Given the description of an element on the screen output the (x, y) to click on. 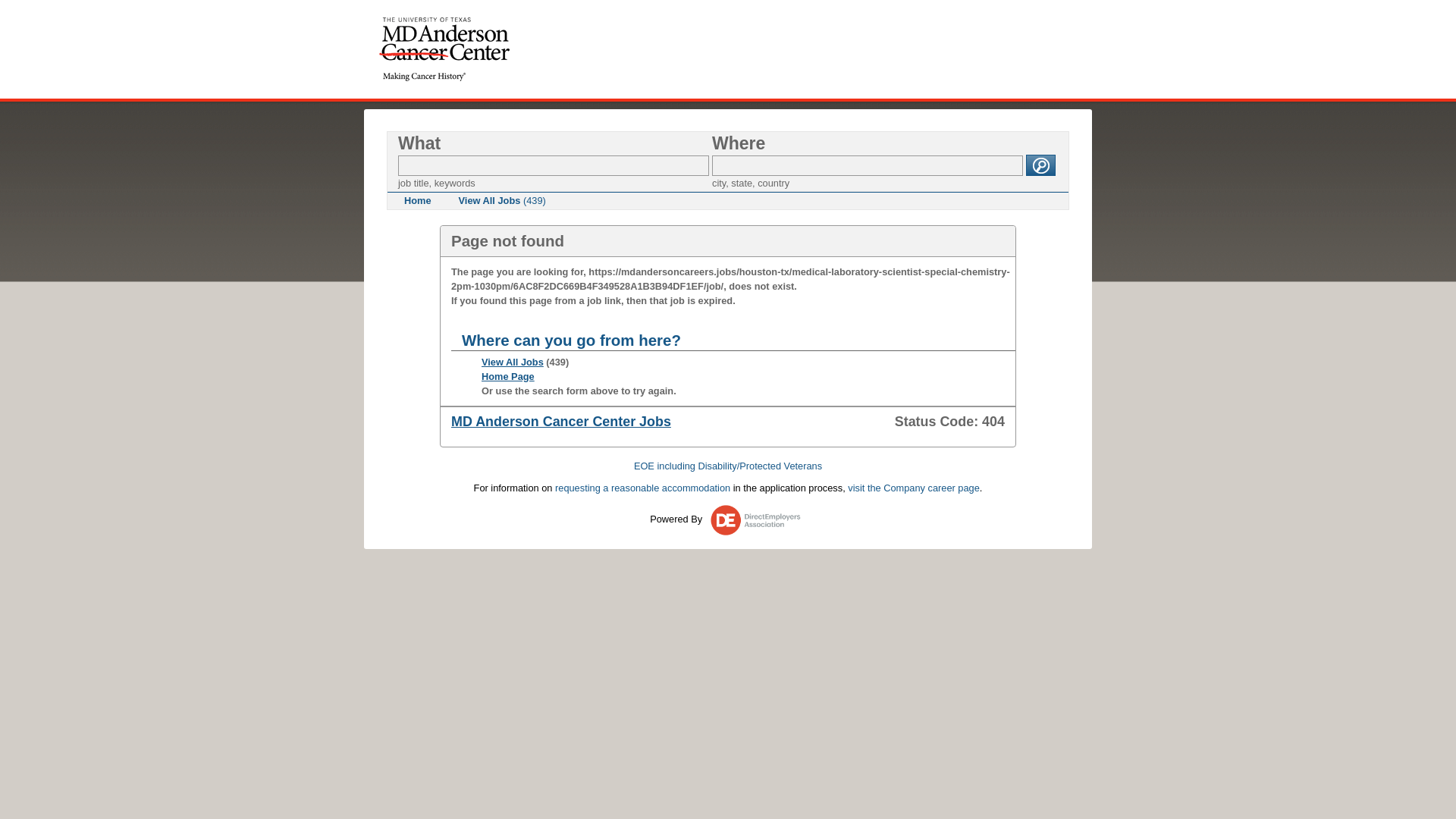
home (443, 49)
search (1040, 165)
Home Page (507, 376)
View All Jobs (512, 361)
requesting a reasonable accommodation (642, 487)
search (1040, 165)
Search Phrase (553, 165)
Search Location (867, 165)
visit the Company career page (913, 487)
MD Anderson Cancer Center Jobs (561, 421)
